Given the description of an element on the screen output the (x, y) to click on. 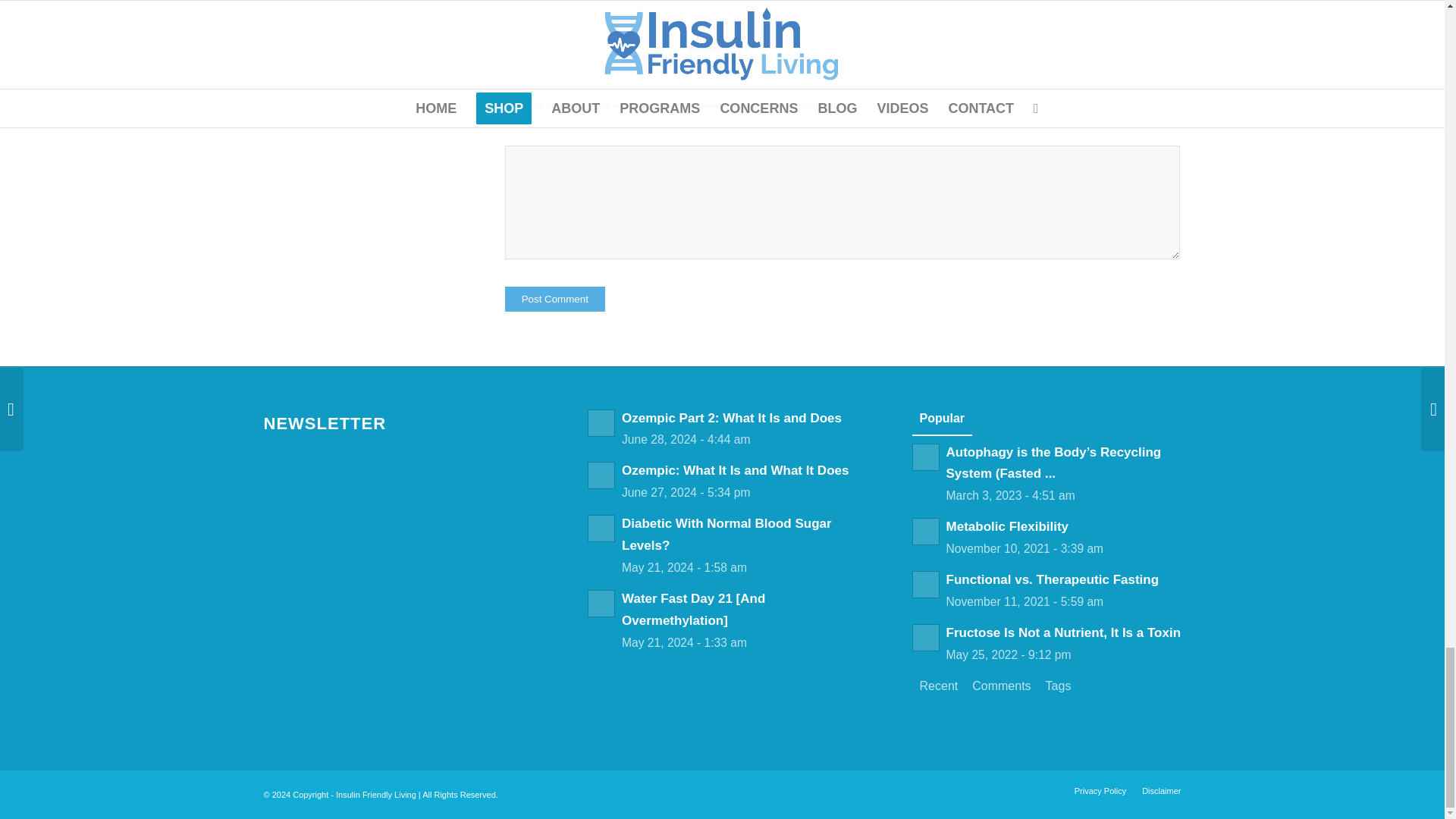
Post Comment (555, 299)
Post Comment (555, 299)
yes (513, 107)
